Given the description of an element on the screen output the (x, y) to click on. 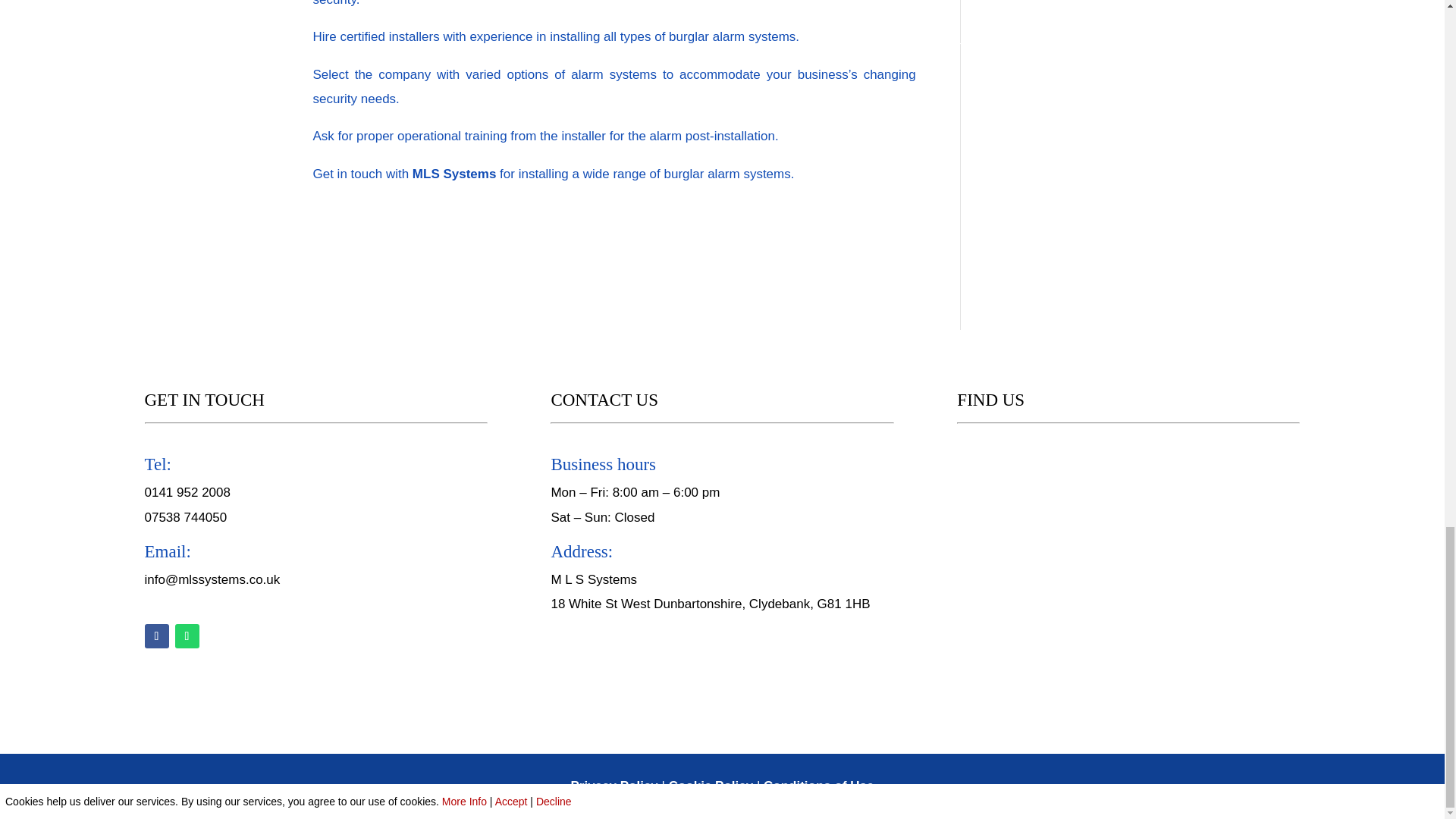
Privacy Policy (614, 785)
Conditions of Use (817, 785)
0141 952 2008 (187, 492)
Cookie Policy (710, 785)
Follow on WhatsApp (186, 636)
Follow on Facebook (156, 636)
07538 744050 (185, 517)
